Given the description of an element on the screen output the (x, y) to click on. 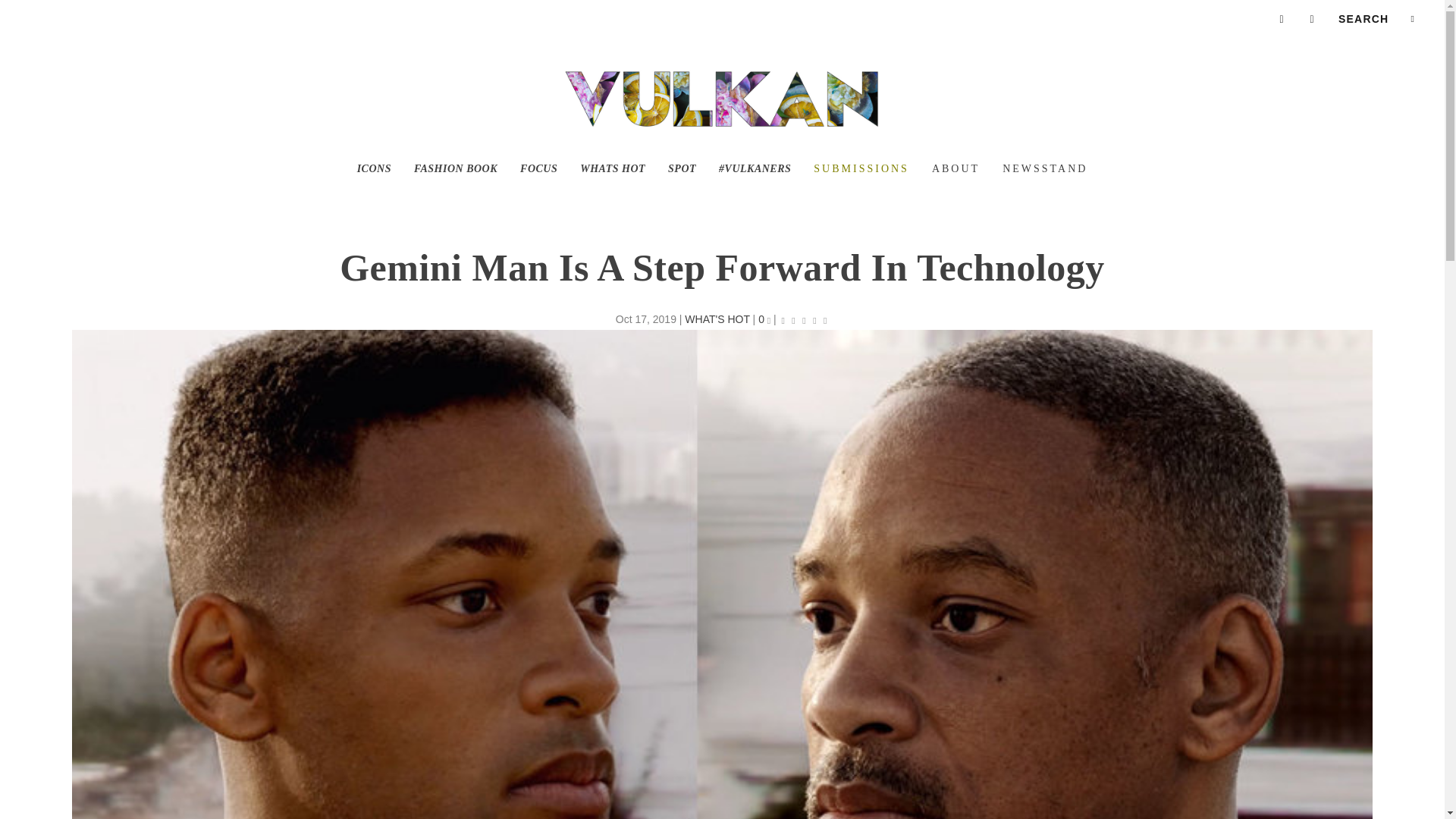
NEWSSTAND (1045, 193)
Rating: 0.00 (803, 320)
WHATS HOT (612, 193)
Search for: (1376, 18)
SUBMISSIONS (860, 193)
0 (764, 318)
WHAT'S HOT (716, 318)
FASHION BOOK (455, 193)
